Given the description of an element on the screen output the (x, y) to click on. 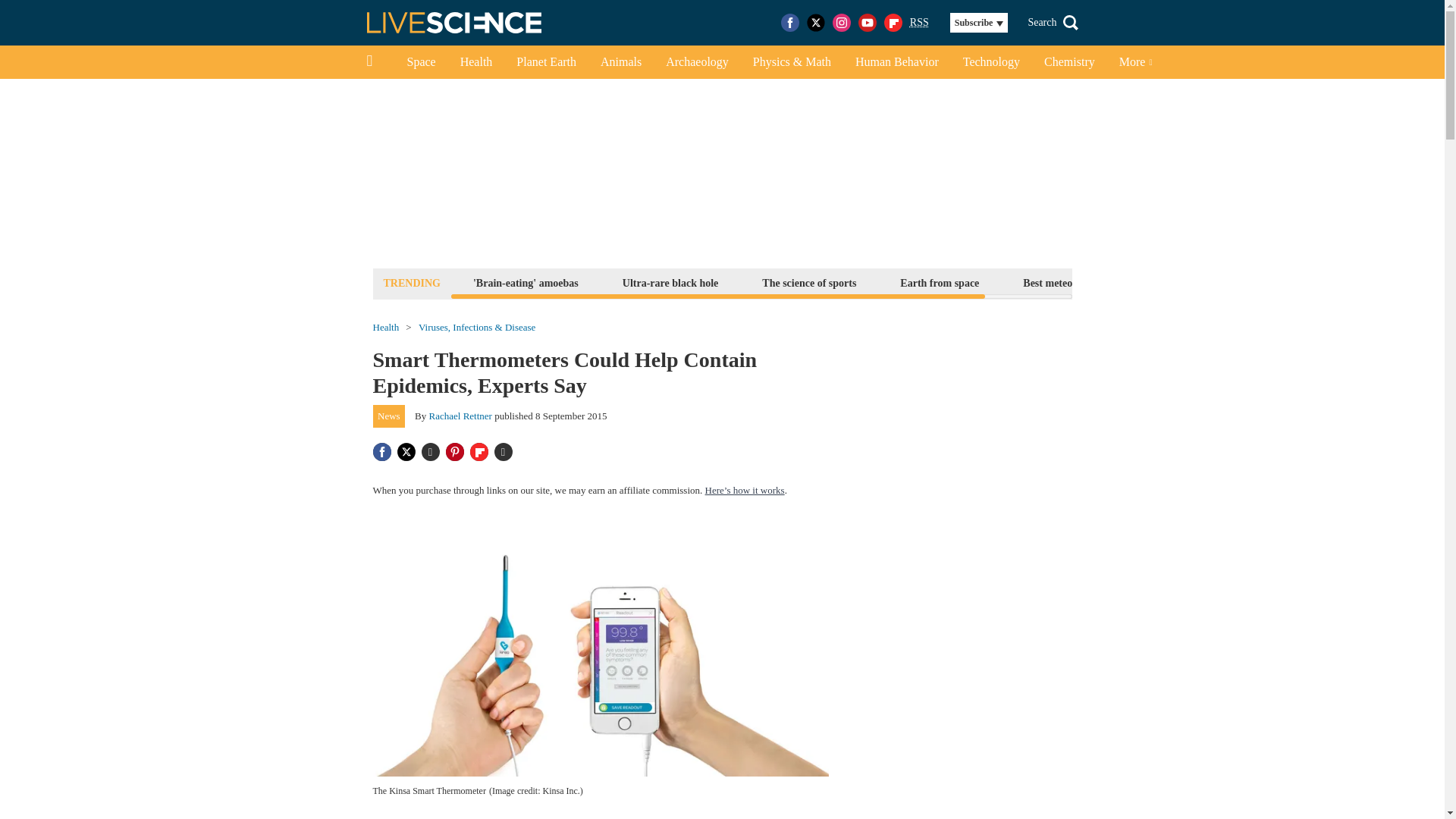
Earth from space (939, 282)
Chemistry (1069, 61)
Technology (991, 61)
Really Simple Syndication (919, 21)
The science of sports (809, 282)
Best meteor showers of 2024 (1086, 282)
News (389, 415)
Health (476, 61)
Rachael Rettner (460, 415)
Planet Earth (545, 61)
